Given the description of an element on the screen output the (x, y) to click on. 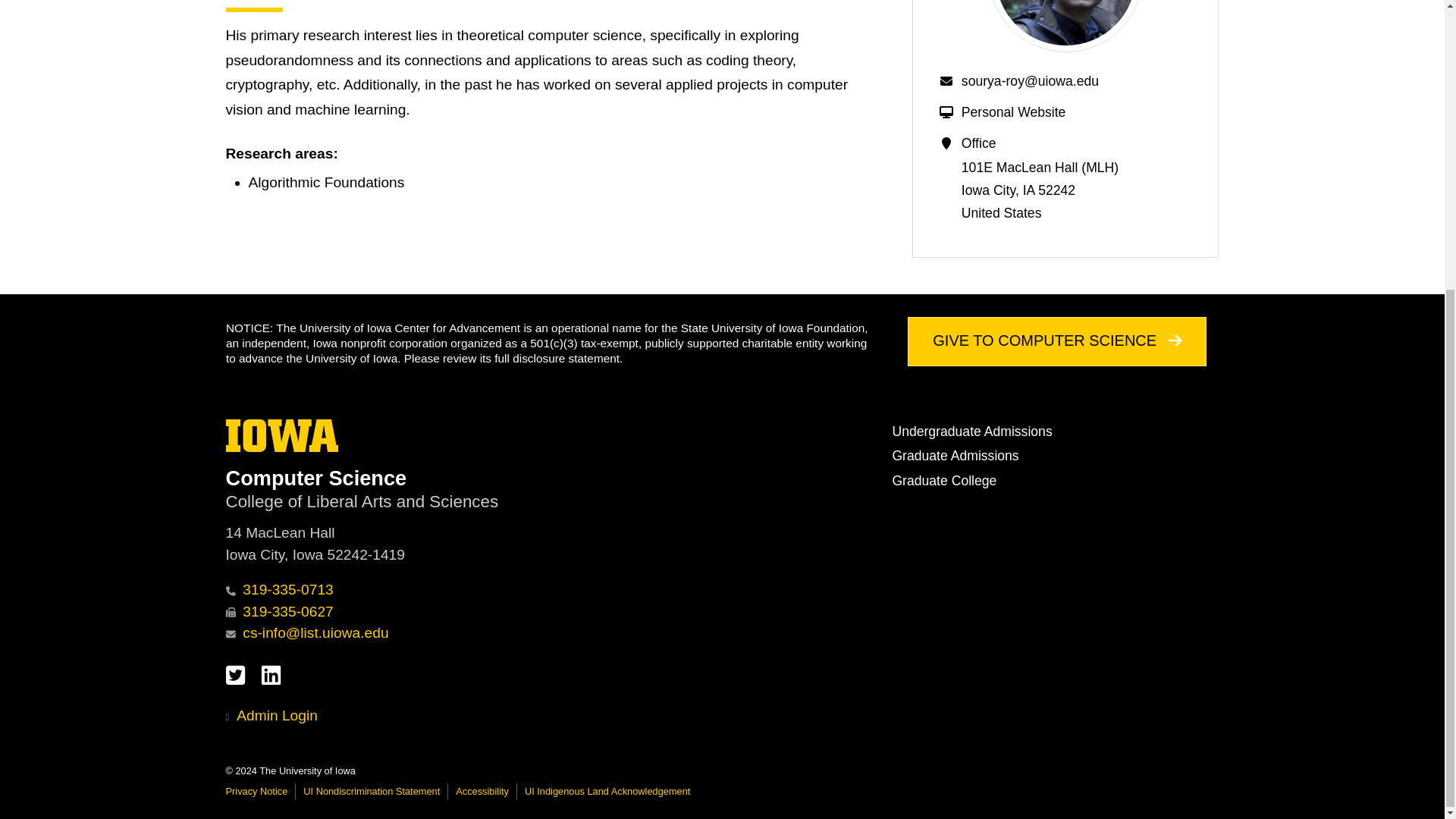
University of Iowa (282, 435)
